Given the description of an element on the screen output the (x, y) to click on. 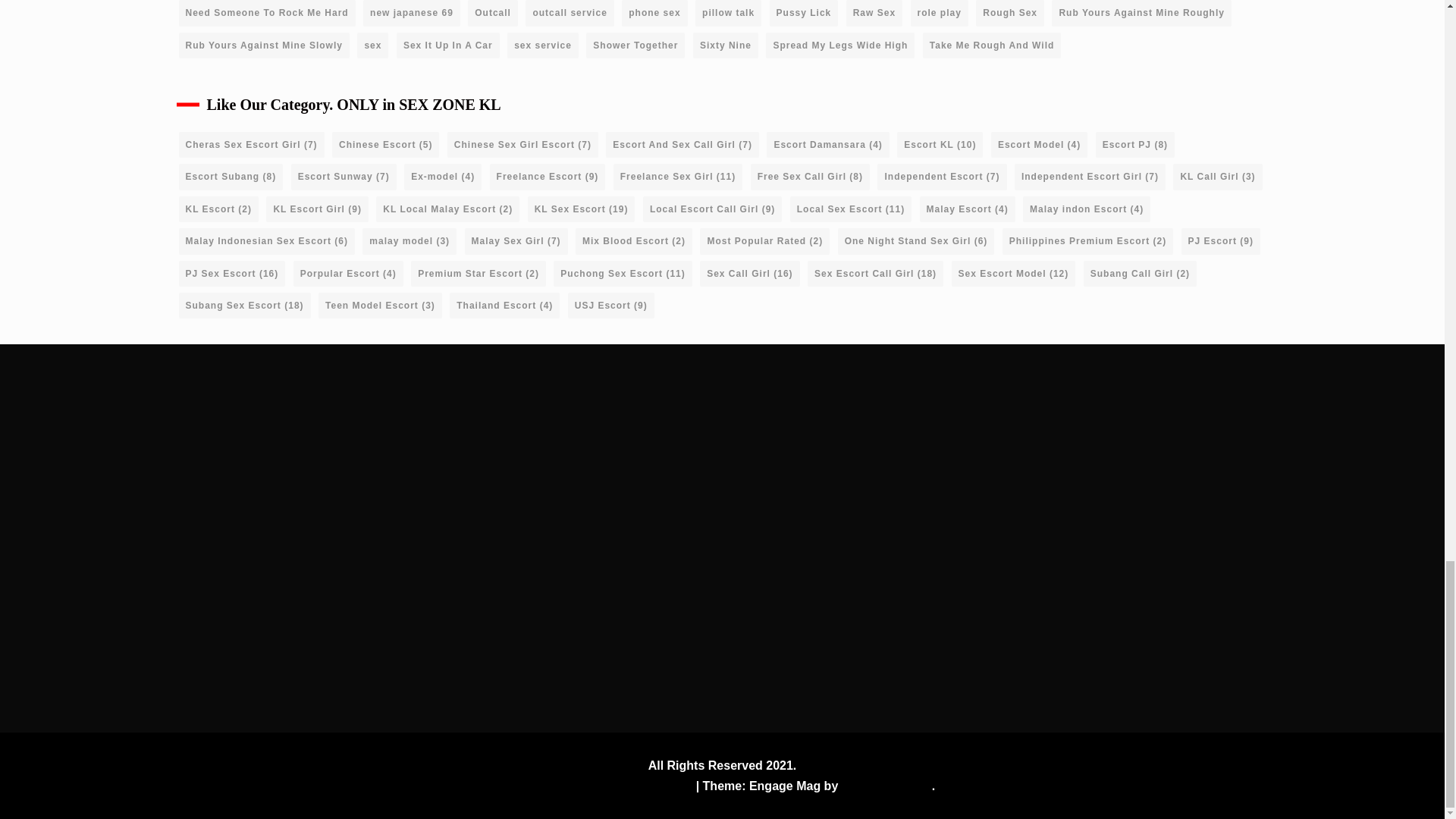
Kl Escort Profile Network (960, 570)
kl escort (577, 412)
kl escort sex service (657, 412)
Escorts Universal  (960, 431)
